Given the description of an element on the screen output the (x, y) to click on. 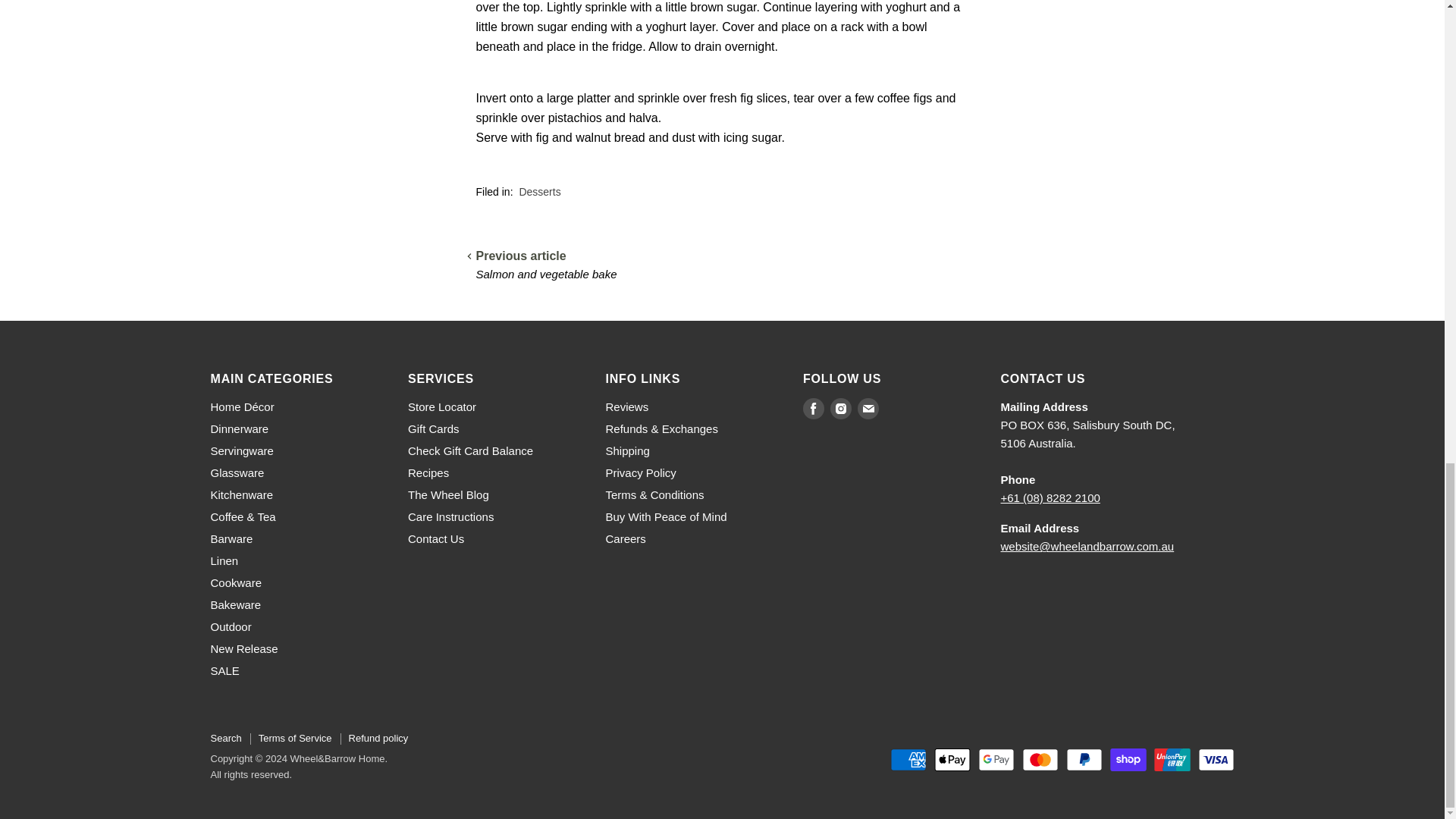
Show articles tagged Desserts (539, 191)
Instagram (840, 408)
Facebook (813, 408)
tel:0882822100 (1050, 497)
Email (868, 408)
